Given the description of an element on the screen output the (x, y) to click on. 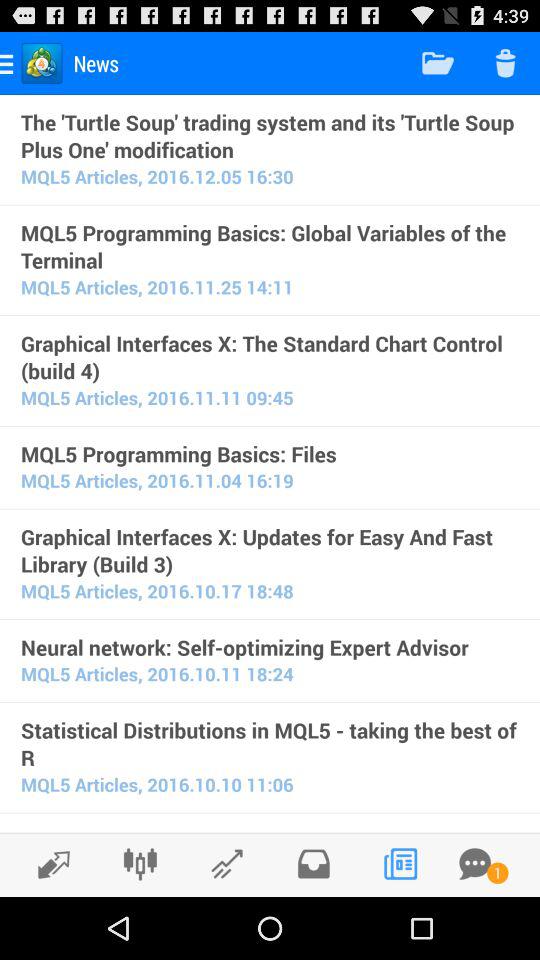
click the item above the mql5 articles 2016 (270, 647)
